Given the description of an element on the screen output the (x, y) to click on. 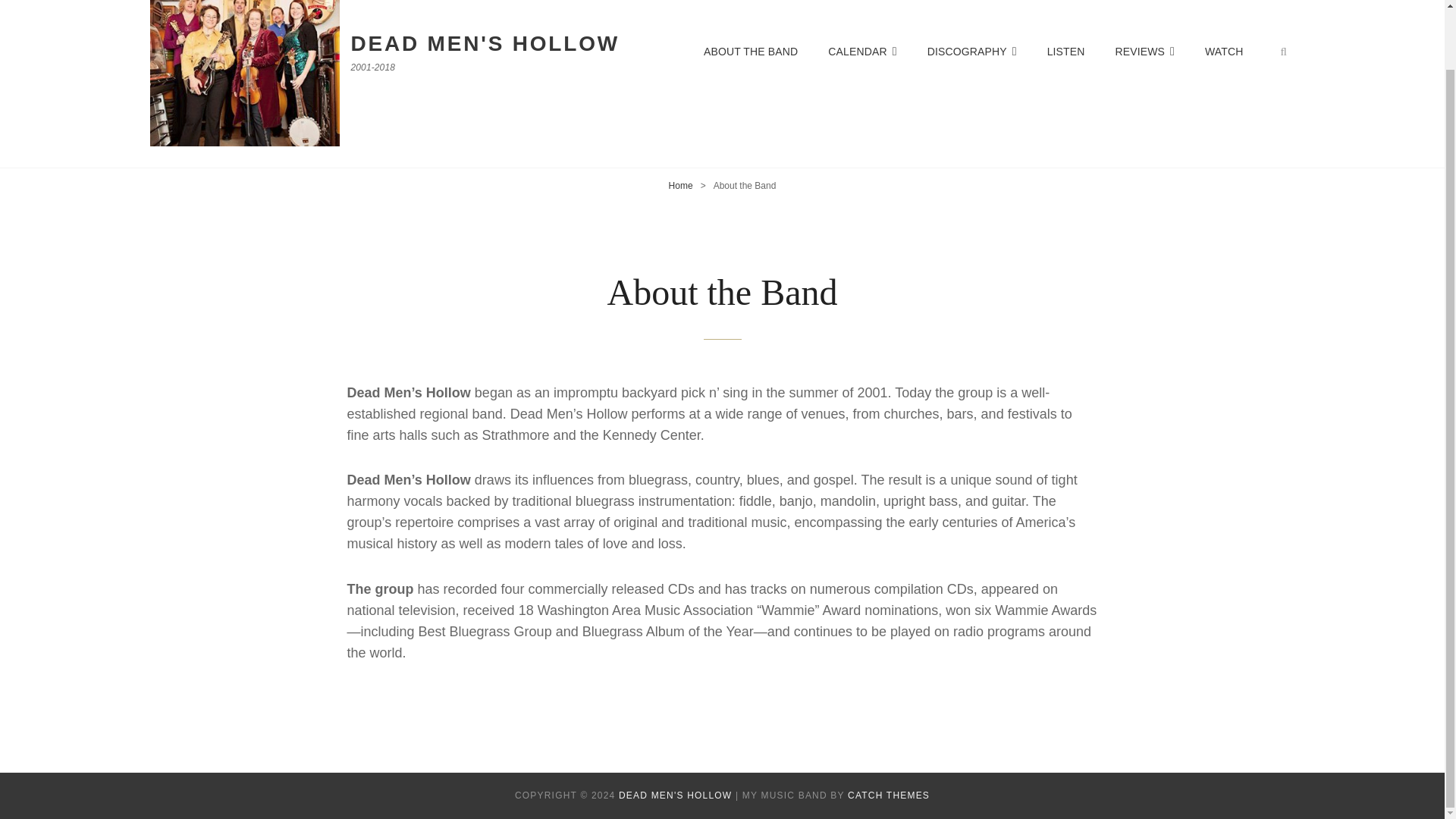
DEAD MEN'S HOLLOW (484, 43)
SEARCH (1283, 51)
DEAD MEN'S HOLLOW (675, 795)
LISTEN (1066, 51)
WATCH (1223, 51)
ABOUT THE BAND (750, 51)
Home (680, 185)
DISCOGRAPHY (972, 51)
CALENDAR (861, 51)
REVIEWS (1144, 51)
